Given the description of an element on the screen output the (x, y) to click on. 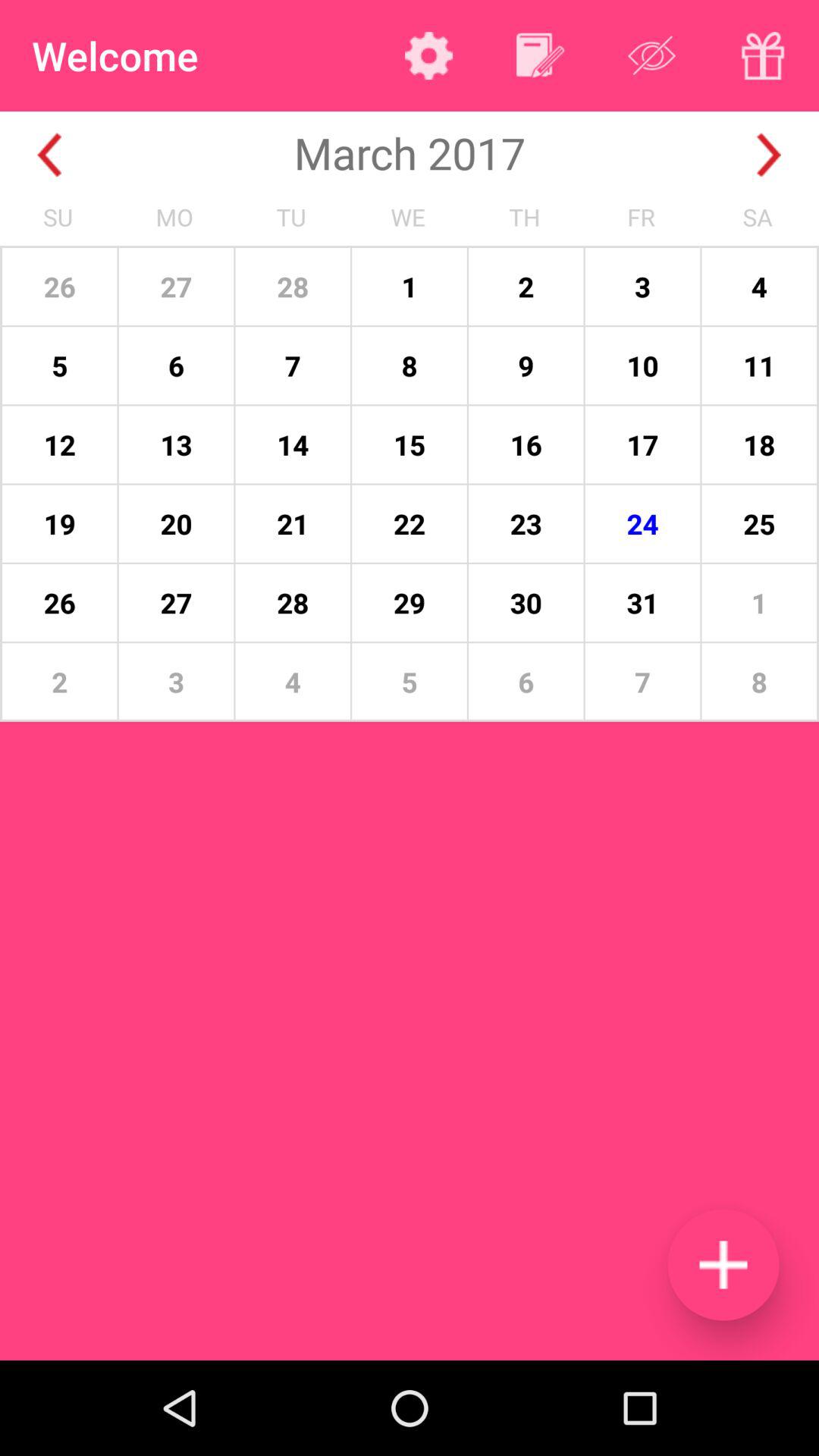
recieve a gift (763, 55)
